Given the description of an element on the screen output the (x, y) to click on. 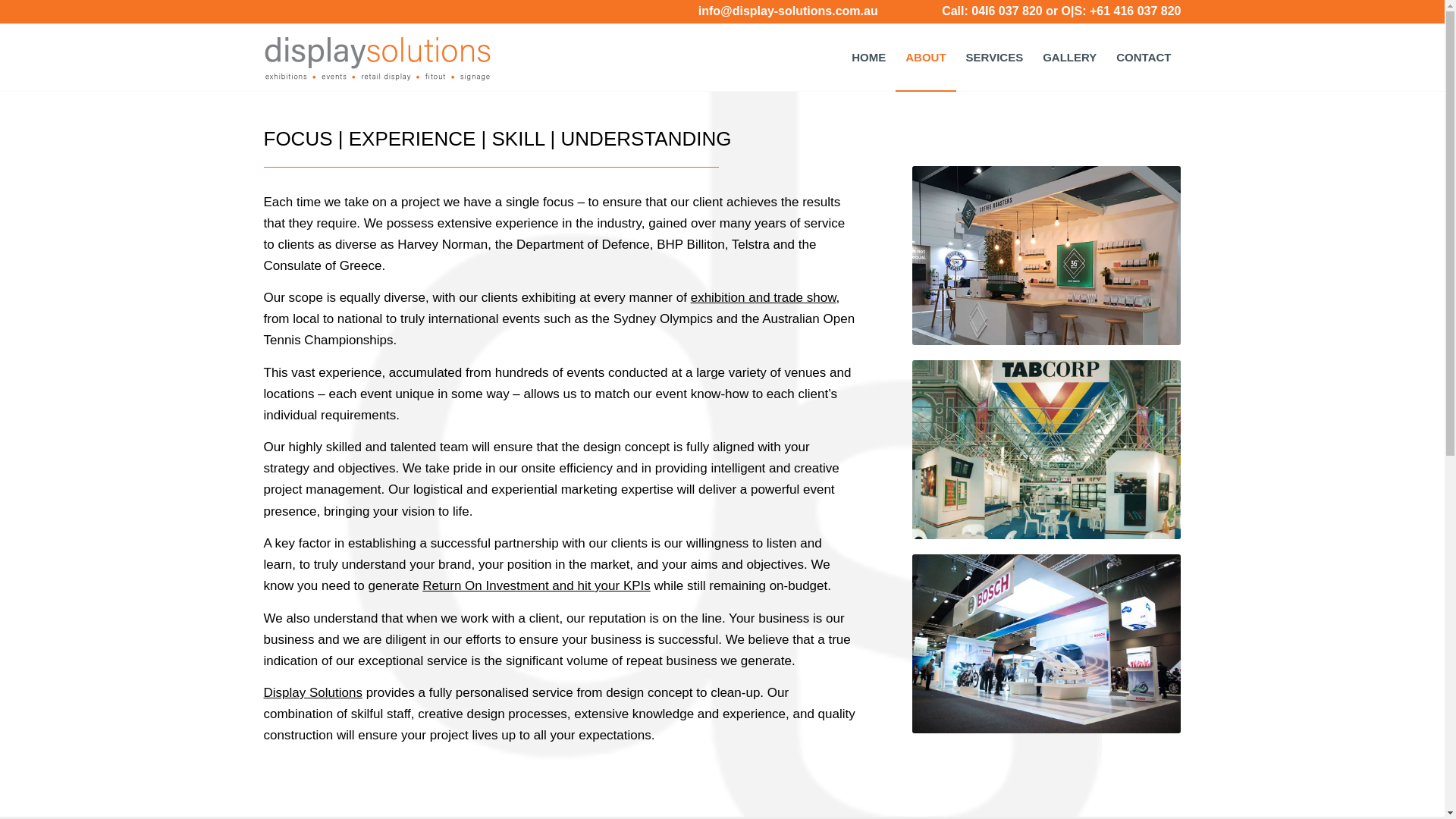
GALLERY Element type: text (1069, 57)
ABOUT Element type: text (925, 57)
Return On Investment and hit your KPIs Element type: text (535, 585)
SERVICES Element type: text (994, 57)
Tabcorp 1000_665 Element type: hover (1046, 449)
Display Solutions Element type: text (312, 692)
exhibition and trade show Element type: text (763, 297)
HOME Element type: text (868, 57)
CONTACT Element type: text (1143, 57)
